Given the description of an element on the screen output the (x, y) to click on. 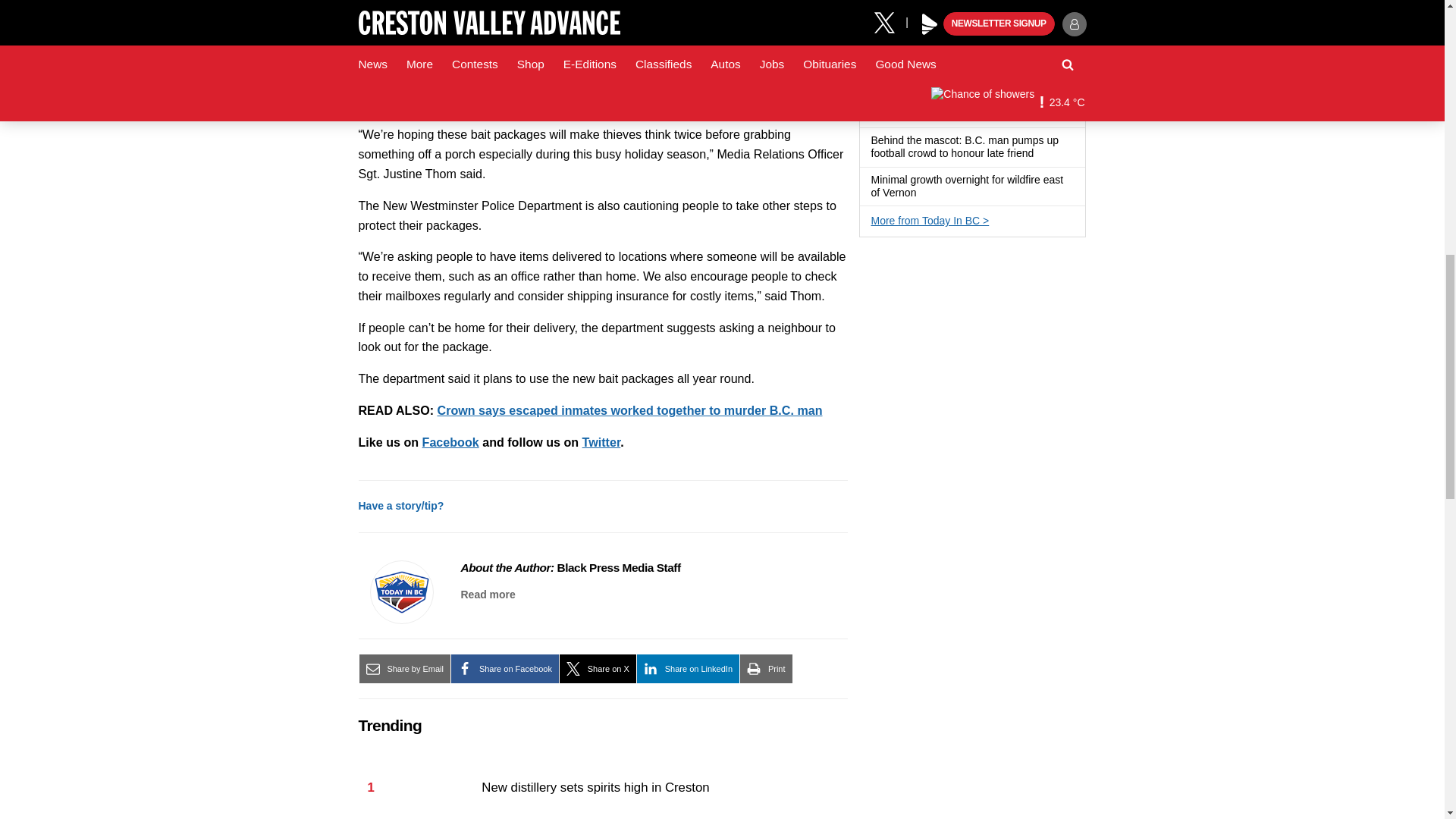
Has a gallery (1042, 153)
